Given the description of an element on the screen output the (x, y) to click on. 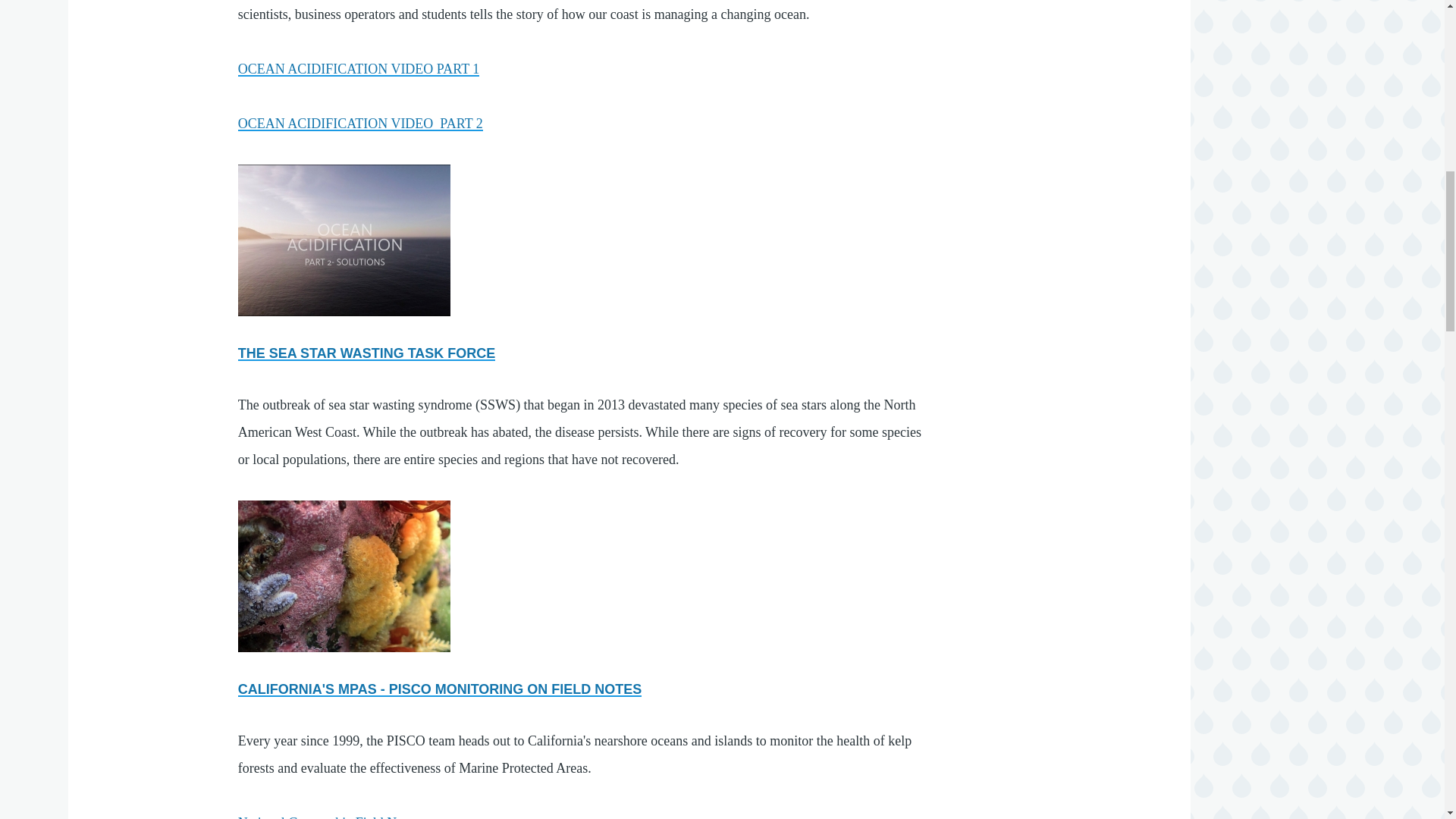
National Geographic Field Notes (328, 816)
CALIFORNIA'S MPAS - PISCO MONITORING ON FIELD NOTES (440, 688)
OCEAN ACIDIFICATION VIDEO PART 1 (359, 68)
OCEAN ACIDIFICATION VIDEO  PART 2 (360, 123)
THE SEA STAR WASTING TASK FORCE (367, 353)
